Given the description of an element on the screen output the (x, y) to click on. 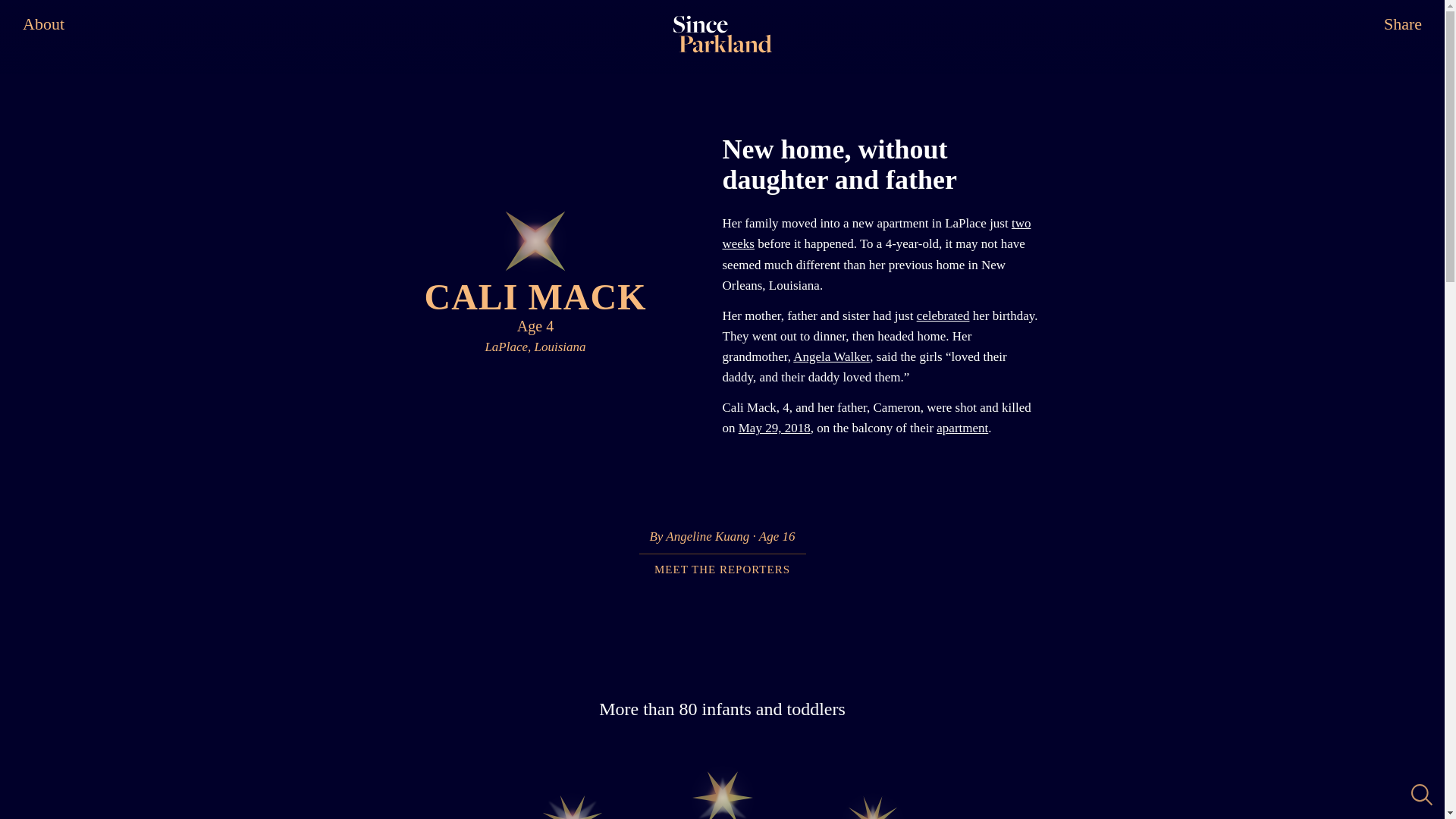
About (43, 23)
May 29, 2018 (774, 427)
two weeks (876, 233)
celebrated (943, 315)
Share (1403, 24)
Angela Walker (831, 356)
apartment (572, 803)
MEET THE REPORTERS (962, 427)
